Given the description of an element on the screen output the (x, y) to click on. 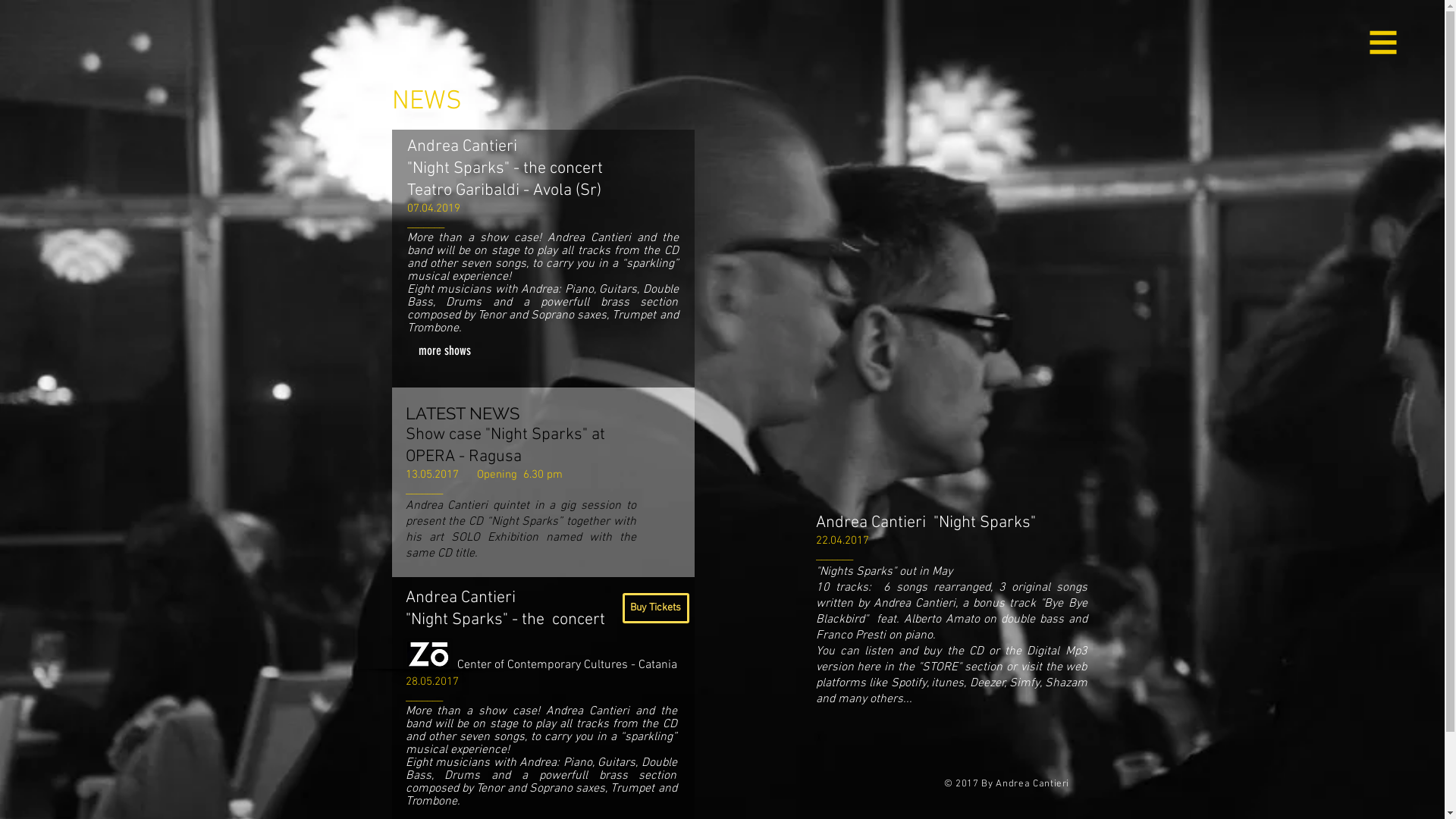
Buy Tickets Element type: text (654, 608)
more shows Element type: text (443, 350)
